Given the description of an element on the screen output the (x, y) to click on. 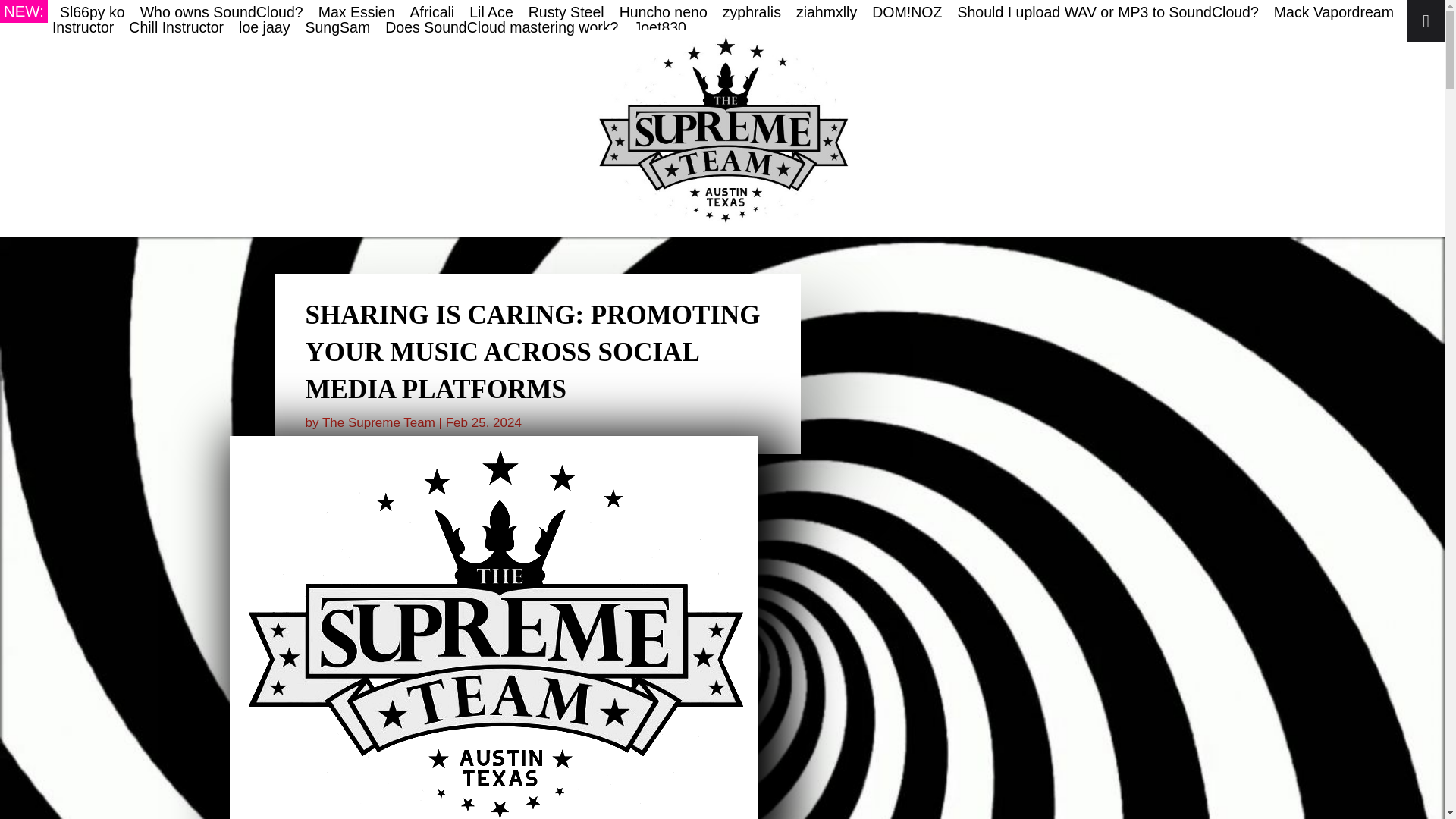
Joet830 (659, 27)
Huncho neno (663, 12)
DOM!NOZ (907, 12)
Chill Instructor (176, 27)
Chill Instructor (745, 20)
The Supreme Team (378, 422)
Organic SoundCloud Promotion and Reposts (722, 130)
loe jaay (263, 27)
Max Essien (356, 12)
SungSam (336, 27)
